Given the description of an element on the screen output the (x, y) to click on. 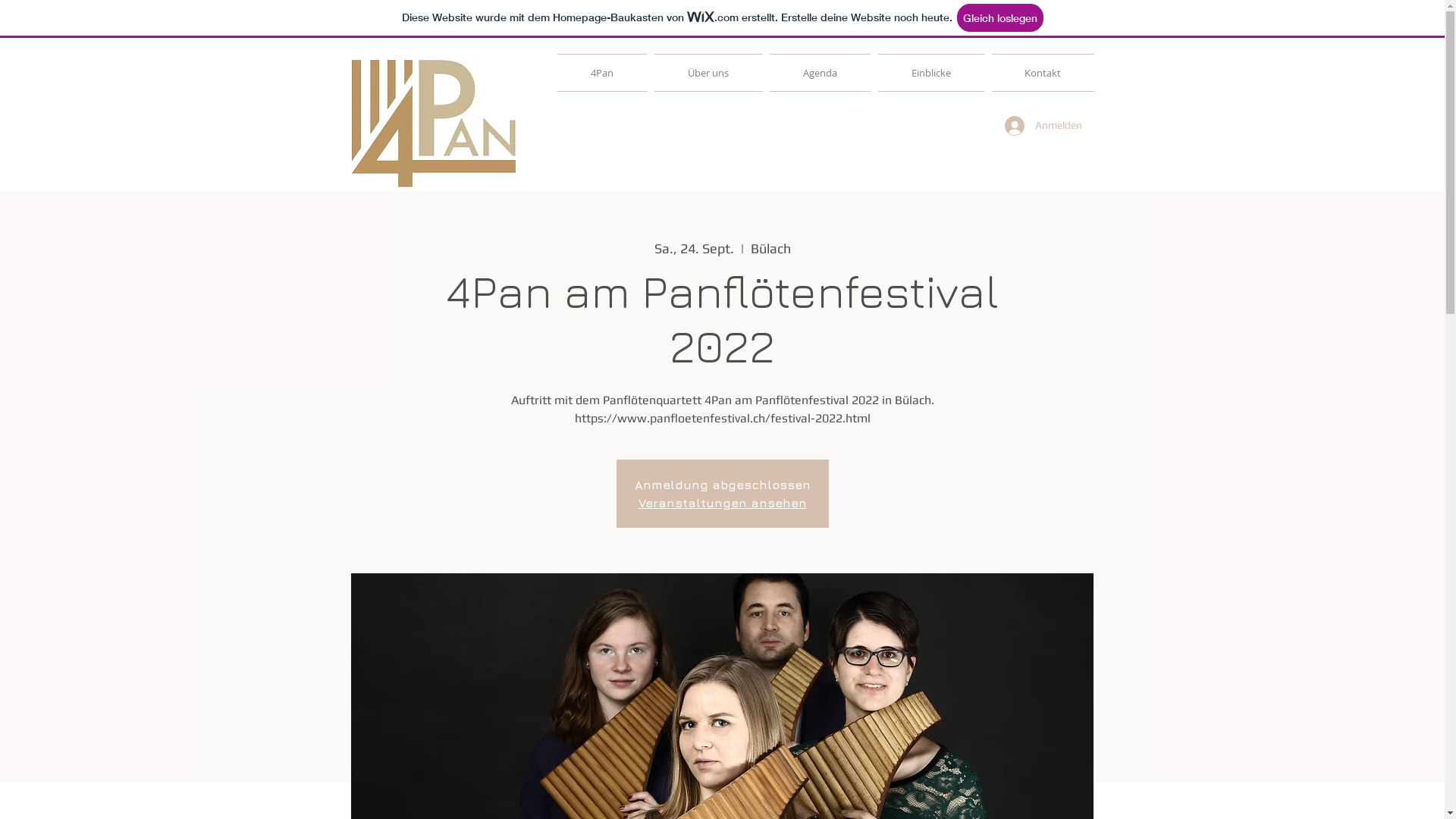
Anmelden Element type: text (1038, 125)
4Pan Element type: text (602, 72)
Veranstaltungen ansehen Element type: text (722, 502)
Kontakt Element type: text (1040, 72)
